Given the description of an element on the screen output the (x, y) to click on. 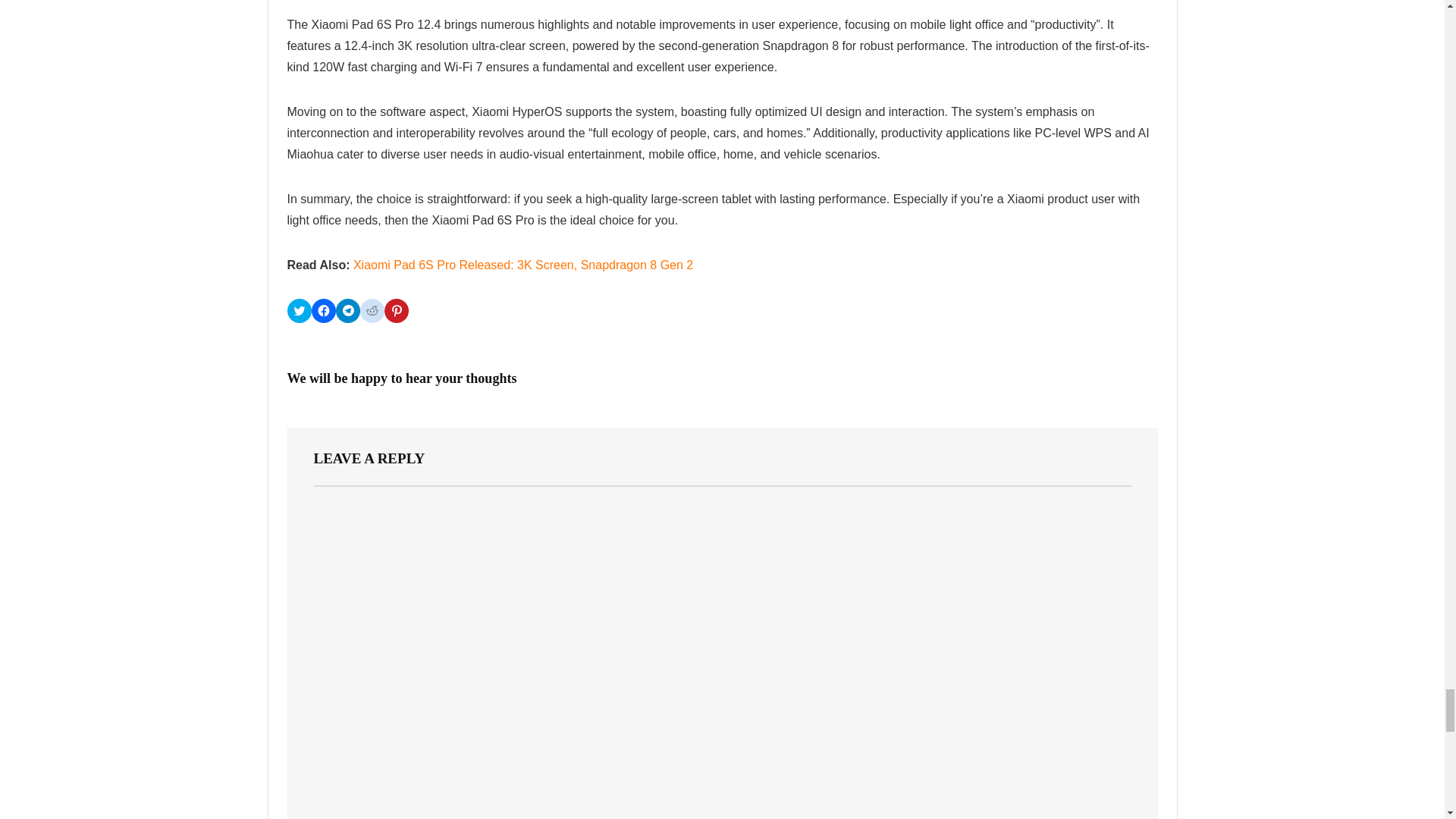
Click to share on Twitter (298, 310)
Click to share on Reddit (371, 310)
Click to share on Facebook (322, 310)
Click to share on Telegram (346, 310)
Click to share on Pinterest (395, 310)
